Given the description of an element on the screen output the (x, y) to click on. 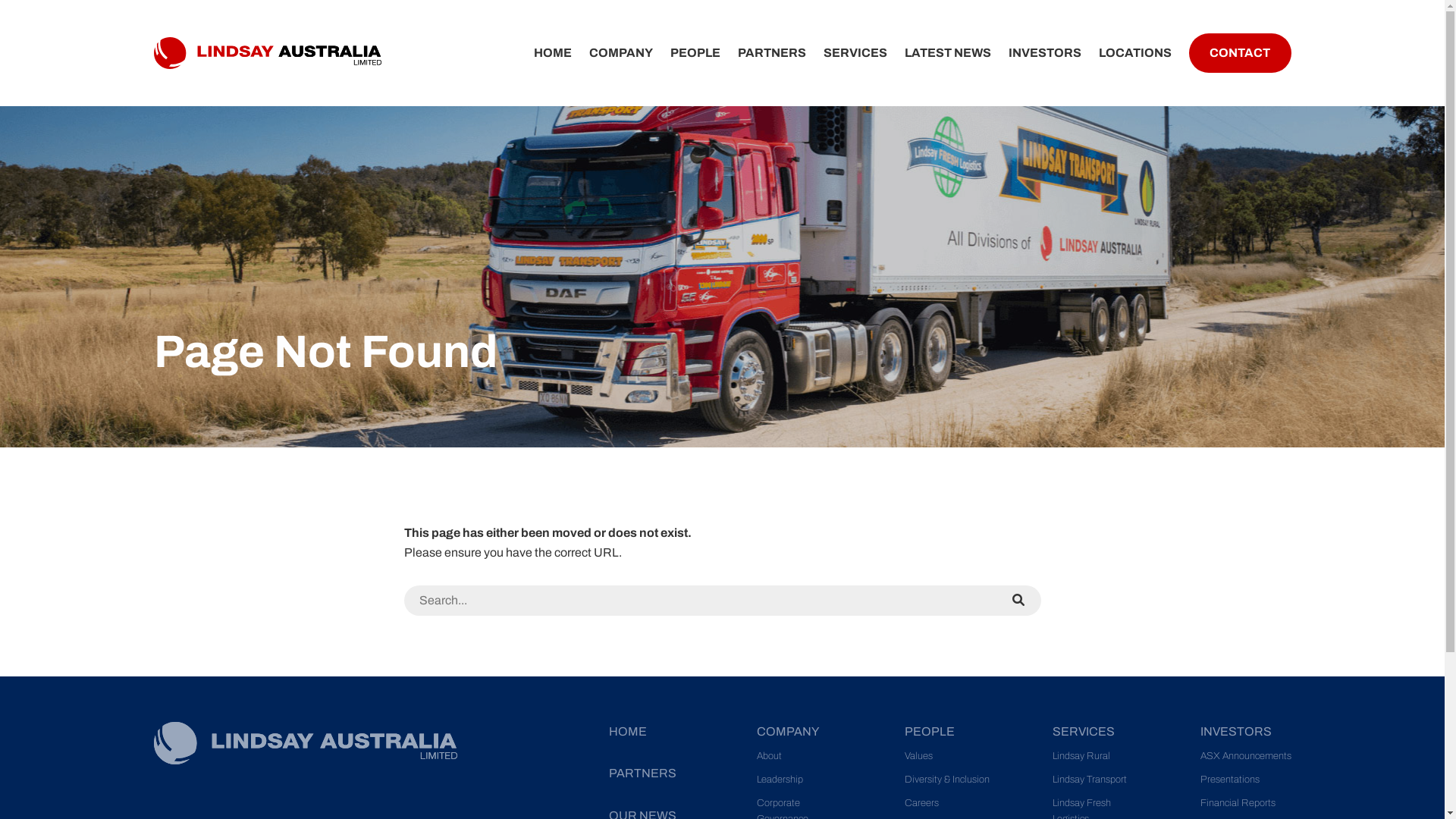
Lindsay Rural Element type: text (1081, 755)
Diversity & Inclusion Element type: text (945, 779)
HOME Element type: text (627, 730)
PARTNERS Element type: text (771, 52)
Lindsay Transport Element type: text (1089, 779)
Financial Reports Element type: text (1236, 802)
Careers Element type: text (920, 802)
PEOPLE Element type: text (695, 52)
About Element type: text (768, 755)
LATEST NEWS Element type: text (947, 52)
Presentations Element type: text (1228, 779)
LOCATIONS Element type: text (1134, 52)
SERVICES Element type: text (1083, 730)
PARTNERS Element type: text (641, 772)
HOME Element type: text (552, 52)
CONTACT Element type: text (1239, 52)
INVESTORS Element type: text (1044, 52)
ASX Announcements Element type: text (1244, 755)
Values Element type: text (917, 755)
Leadership Element type: text (779, 779)
INVESTORS Element type: text (1234, 730)
PEOPLE Element type: text (928, 730)
SERVICES Element type: text (855, 52)
COMPANY Element type: text (620, 52)
COMPANY Element type: text (787, 730)
